Given the description of an element on the screen output the (x, y) to click on. 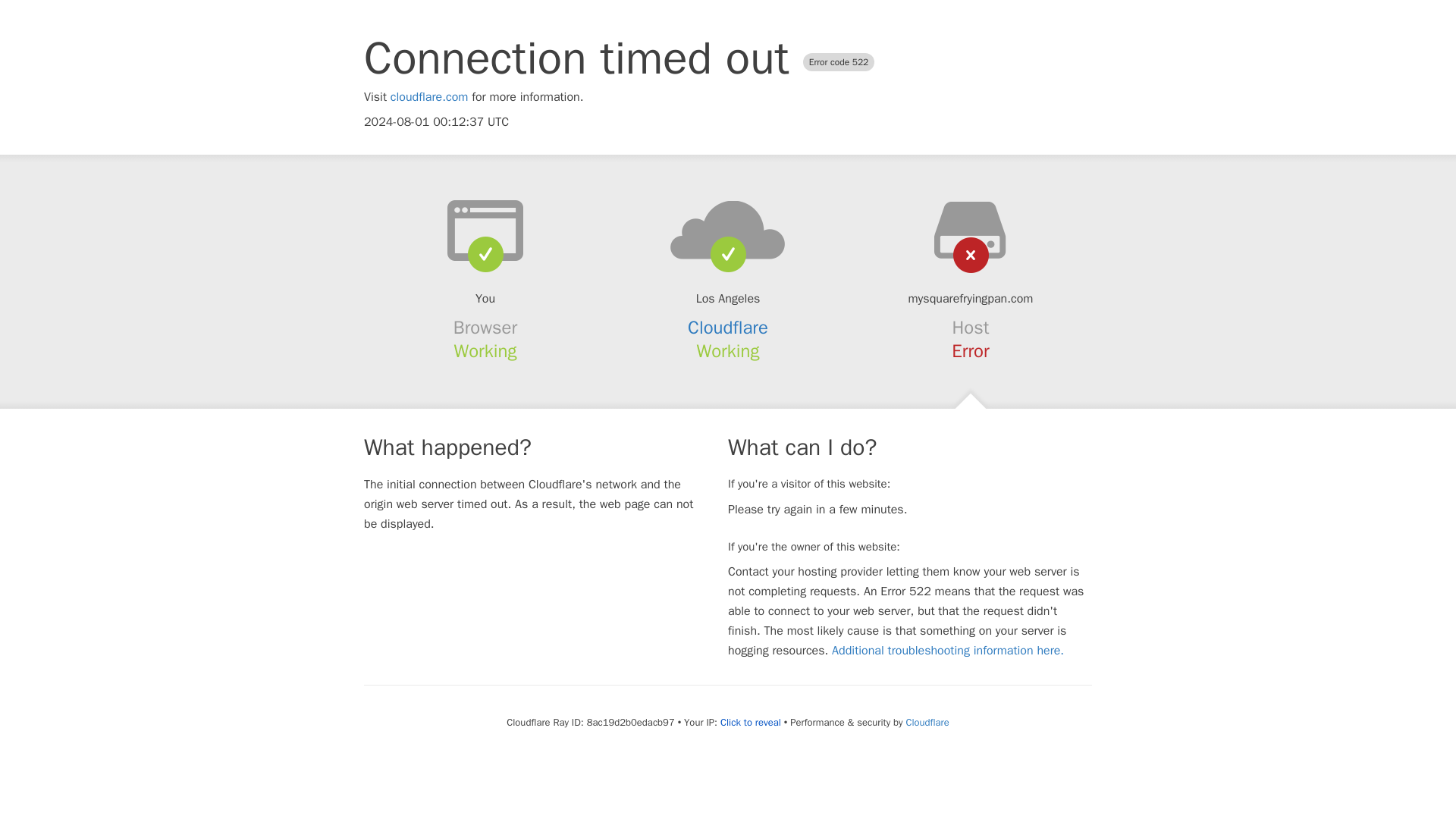
Additional troubleshooting information here. (947, 650)
cloudflare.com (429, 96)
Click to reveal (750, 722)
Cloudflare (727, 327)
Cloudflare (927, 721)
